Given the description of an element on the screen output the (x, y) to click on. 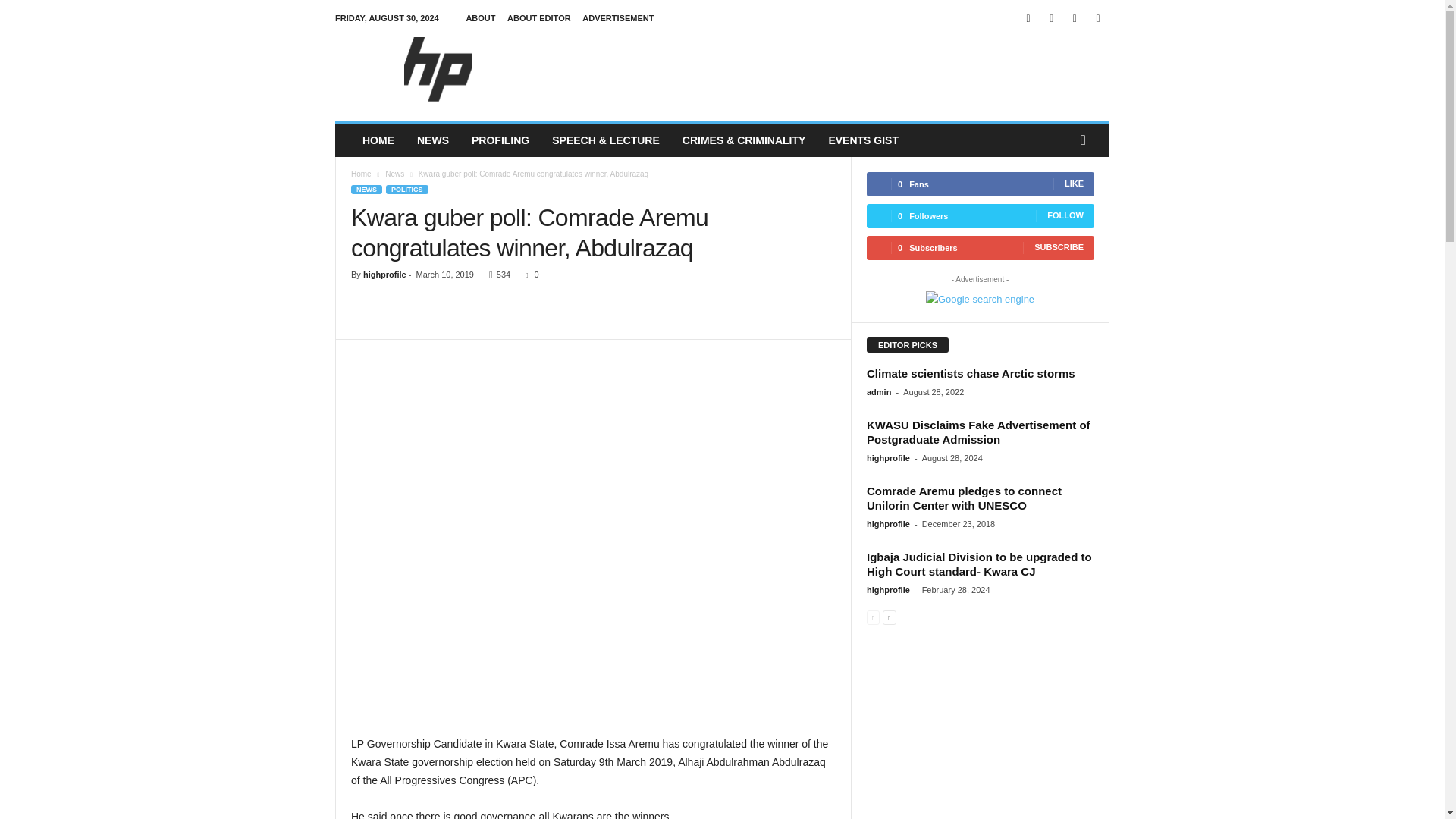
View all posts in News (394, 173)
HOME (378, 140)
ADVERTISEMENT (617, 17)
High Profile (437, 70)
ABOUT EDITOR (538, 17)
ABOUT (480, 17)
PROFILING (500, 140)
NEWS (433, 140)
